Given the description of an element on the screen output the (x, y) to click on. 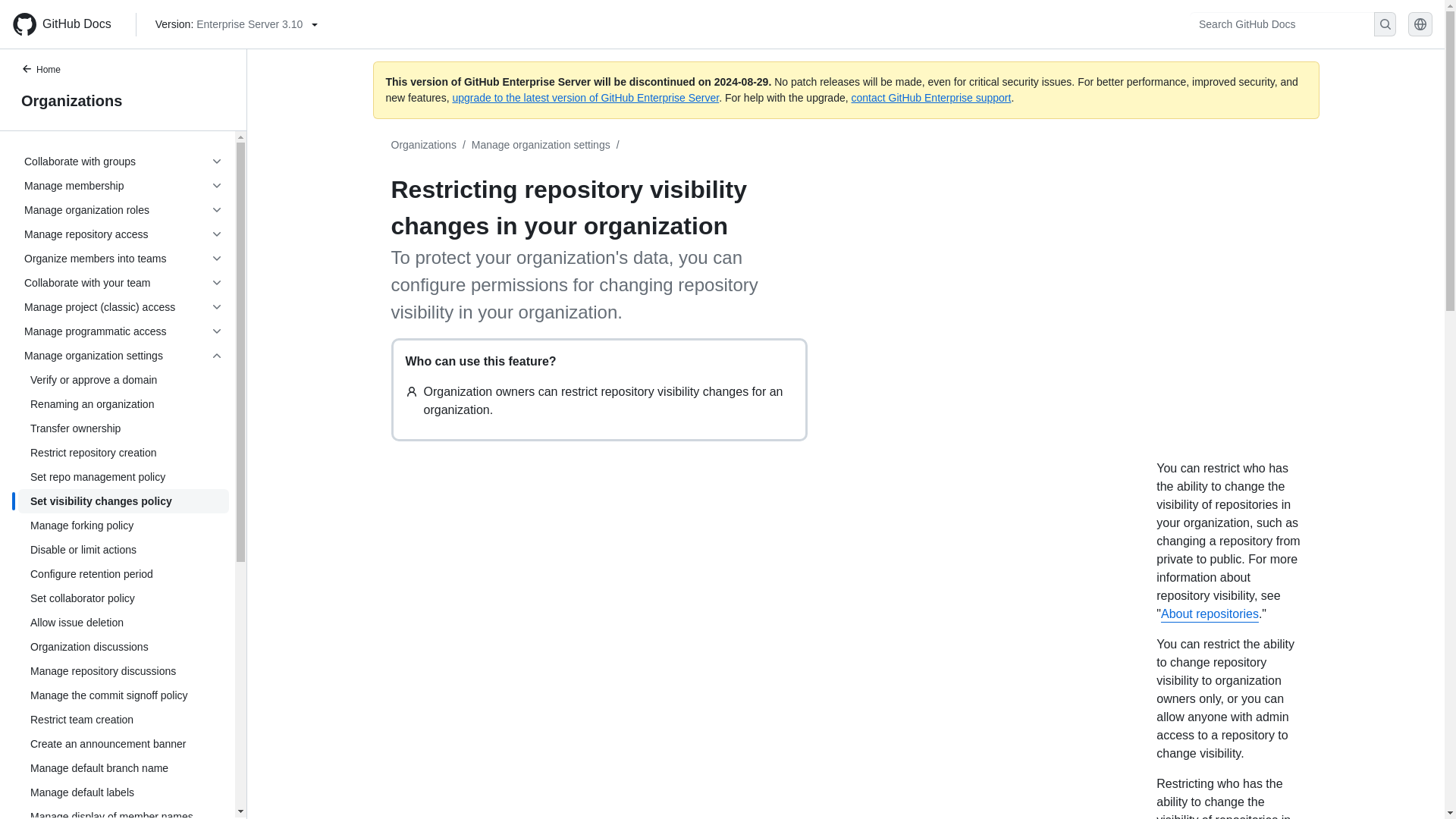
Organizations (122, 100)
GitHub Docs (67, 24)
Manage organization roles (122, 209)
Home (49, 70)
Manage organization settings (540, 144)
Version: Enterprise Server 3.10 (236, 24)
Organizations (424, 144)
Collaborate with groups (122, 161)
Manage membership (122, 185)
Manage repository access (122, 233)
